Given the description of an element on the screen output the (x, y) to click on. 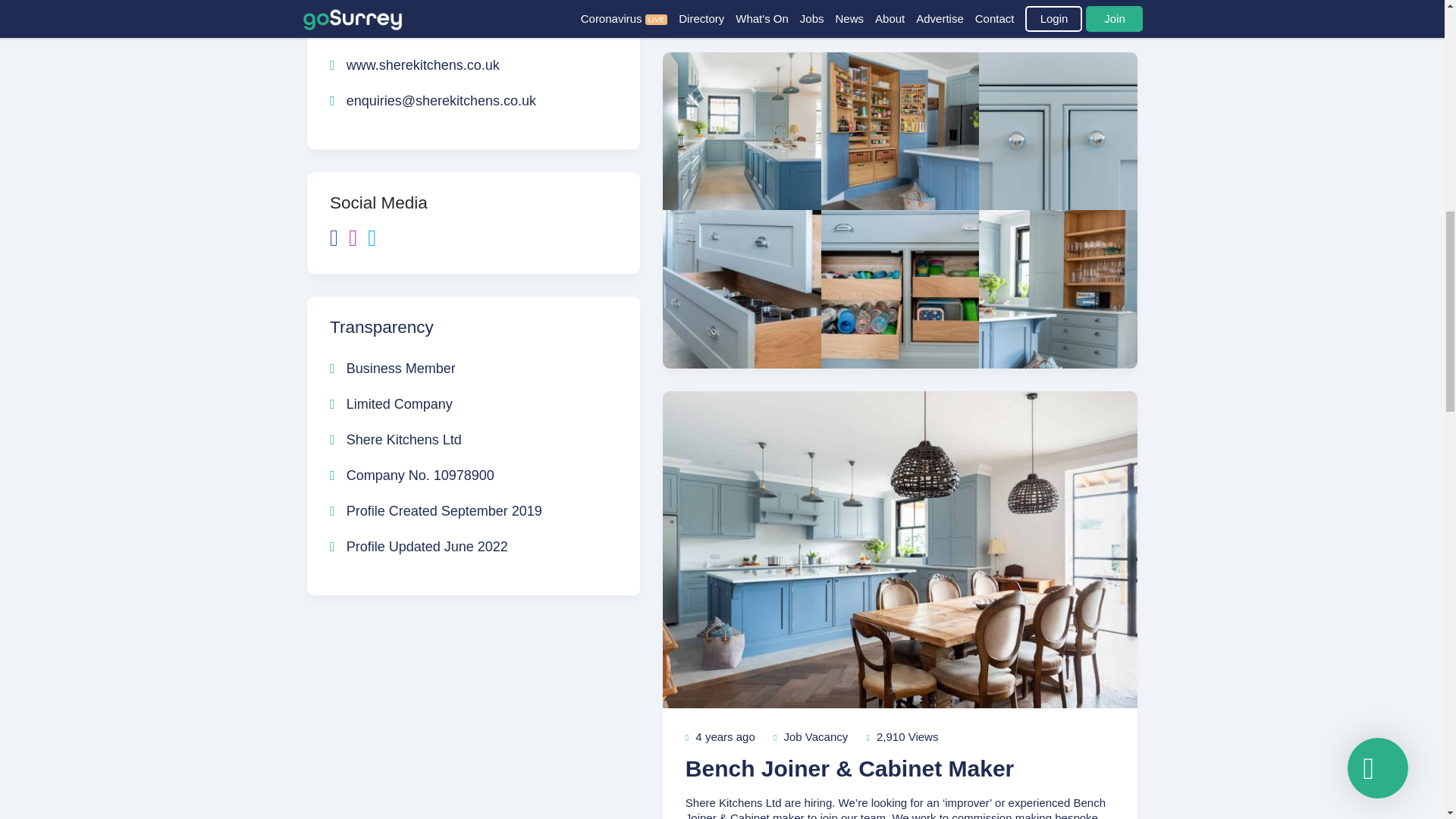
Instagram (358, 241)
Twitter (376, 241)
Facebook (339, 241)
www.sherekitchens.co.uk (414, 64)
10978900 (464, 475)
